Given the description of an element on the screen output the (x, y) to click on. 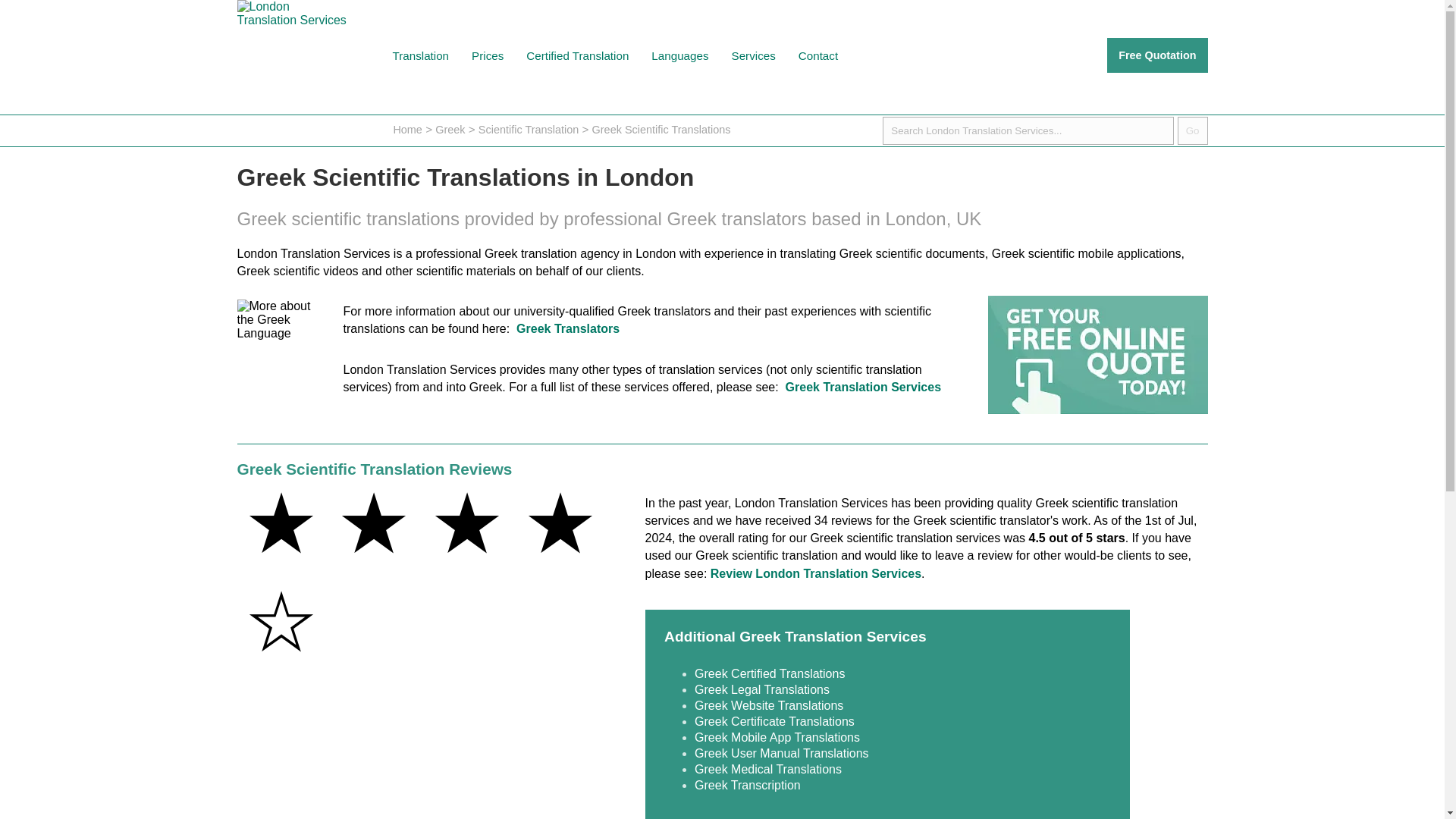
Translation Languages (679, 55)
Greek Translators (568, 328)
Greek Mobile App Translations (777, 737)
Greek Certified Translations (769, 673)
Greek Certificate Translations (774, 721)
Free Quotation (1156, 54)
Translation Types (420, 55)
Greek User Manual Translations (780, 753)
Home (407, 129)
Review Greek Translation Agency UK (815, 573)
Greek Scientific Translations (661, 129)
Certified Translation (577, 55)
Go (1192, 130)
Greek Legal Translations (761, 689)
Scientific Translation (528, 129)
